Given the description of an element on the screen output the (x, y) to click on. 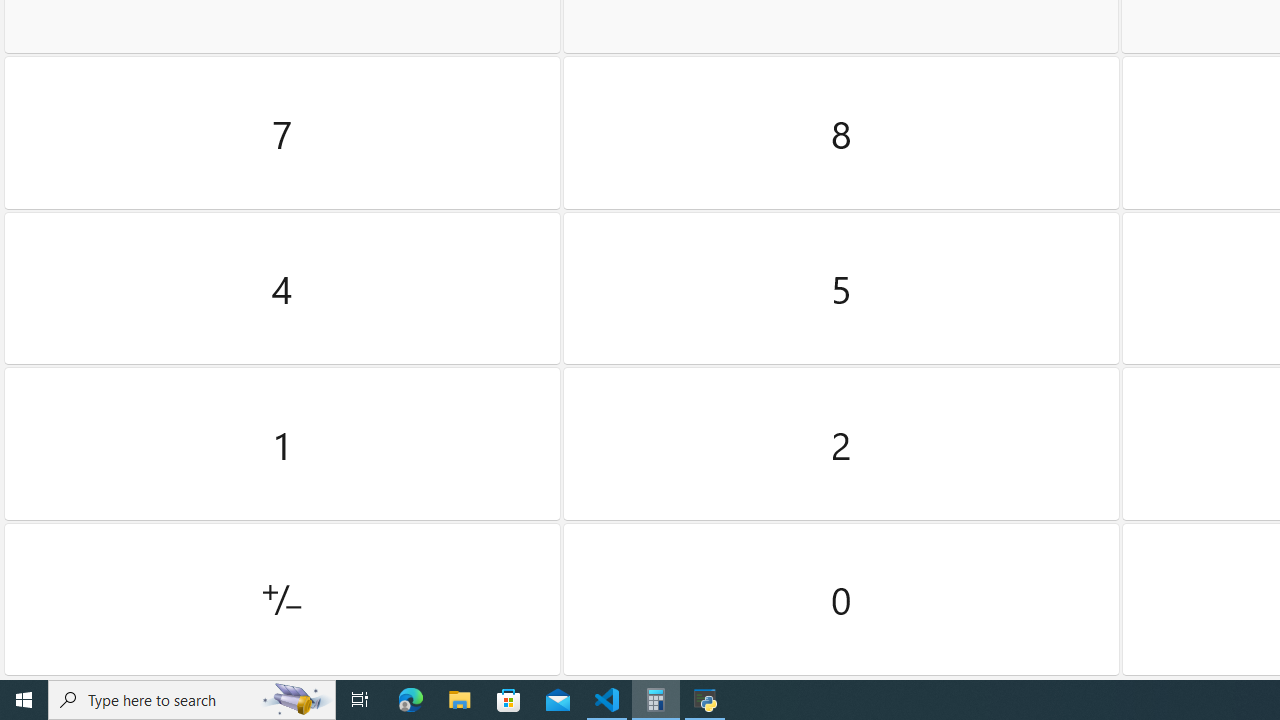
Seven (281, 133)
Zero (841, 599)
Four (281, 288)
Positive negative (281, 599)
Two (841, 444)
One (281, 444)
Eight (841, 133)
